Given the description of an element on the screen output the (x, y) to click on. 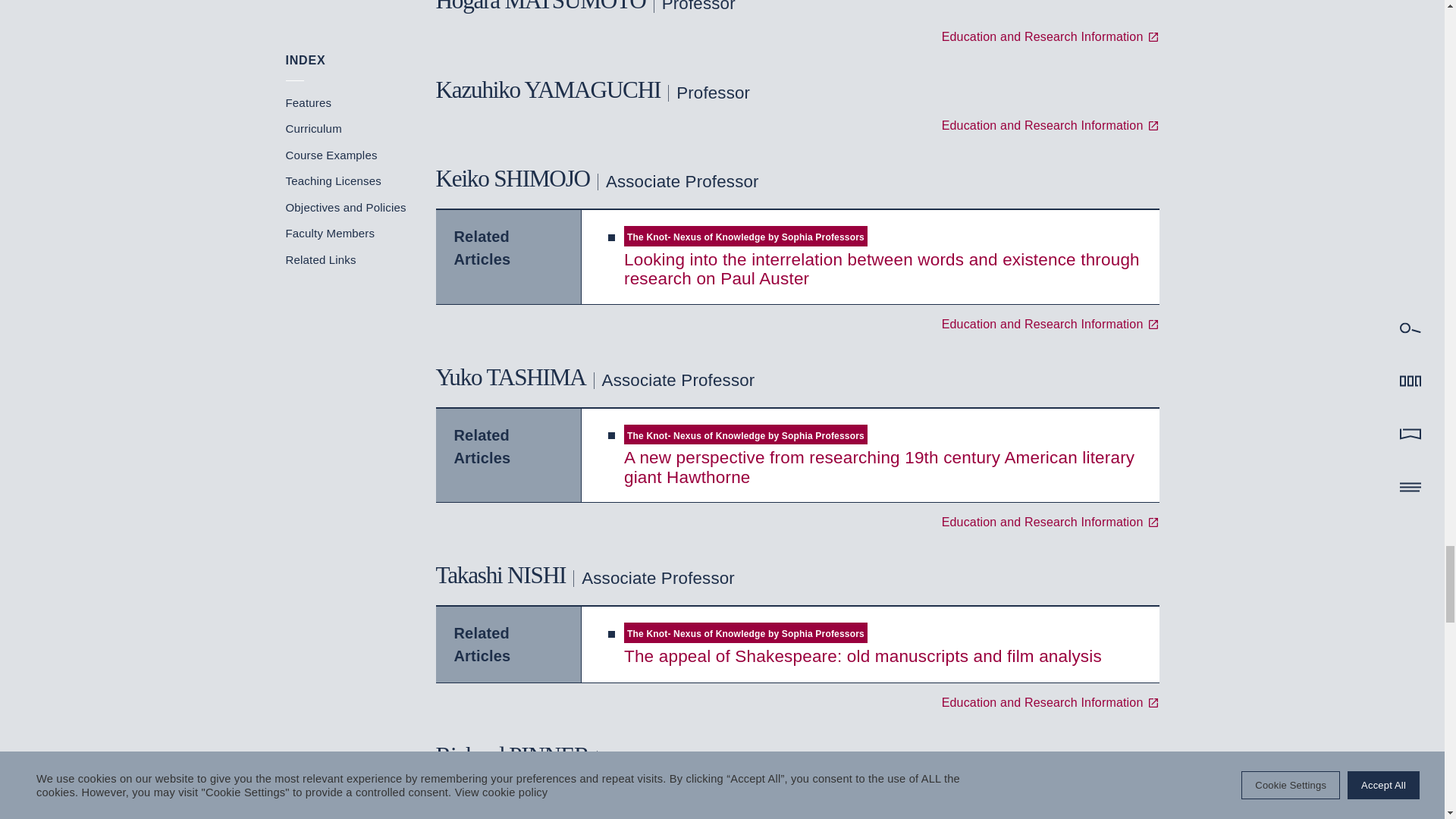
Education and Research Information (1050, 37)
